Given the description of an element on the screen output the (x, y) to click on. 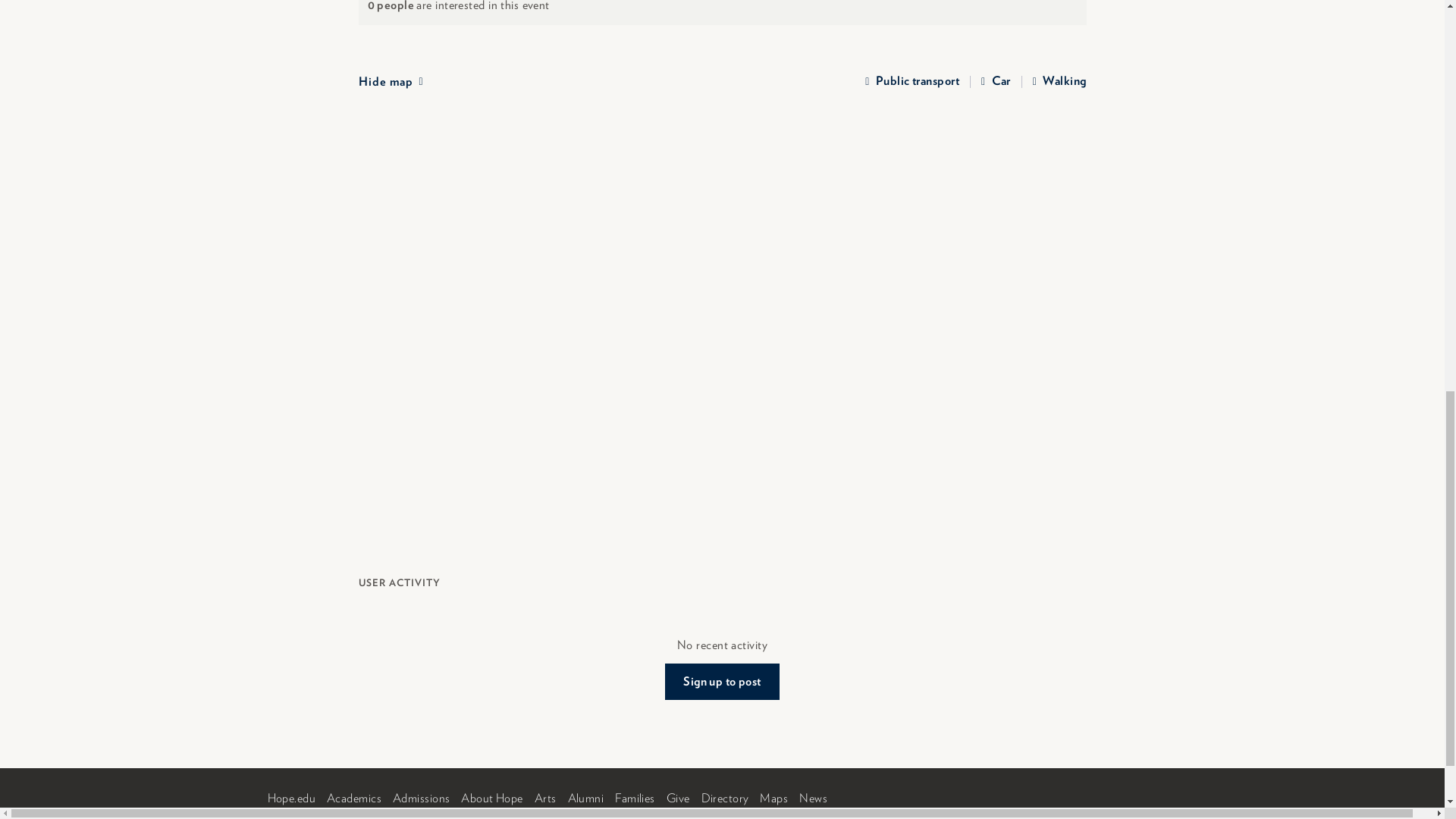
Public transport (911, 81)
Hope.edu (290, 798)
Walking (1059, 81)
Car (995, 81)
Admissions (421, 798)
Academics (353, 798)
Sign up to post (721, 681)
